Given the description of an element on the screen output the (x, y) to click on. 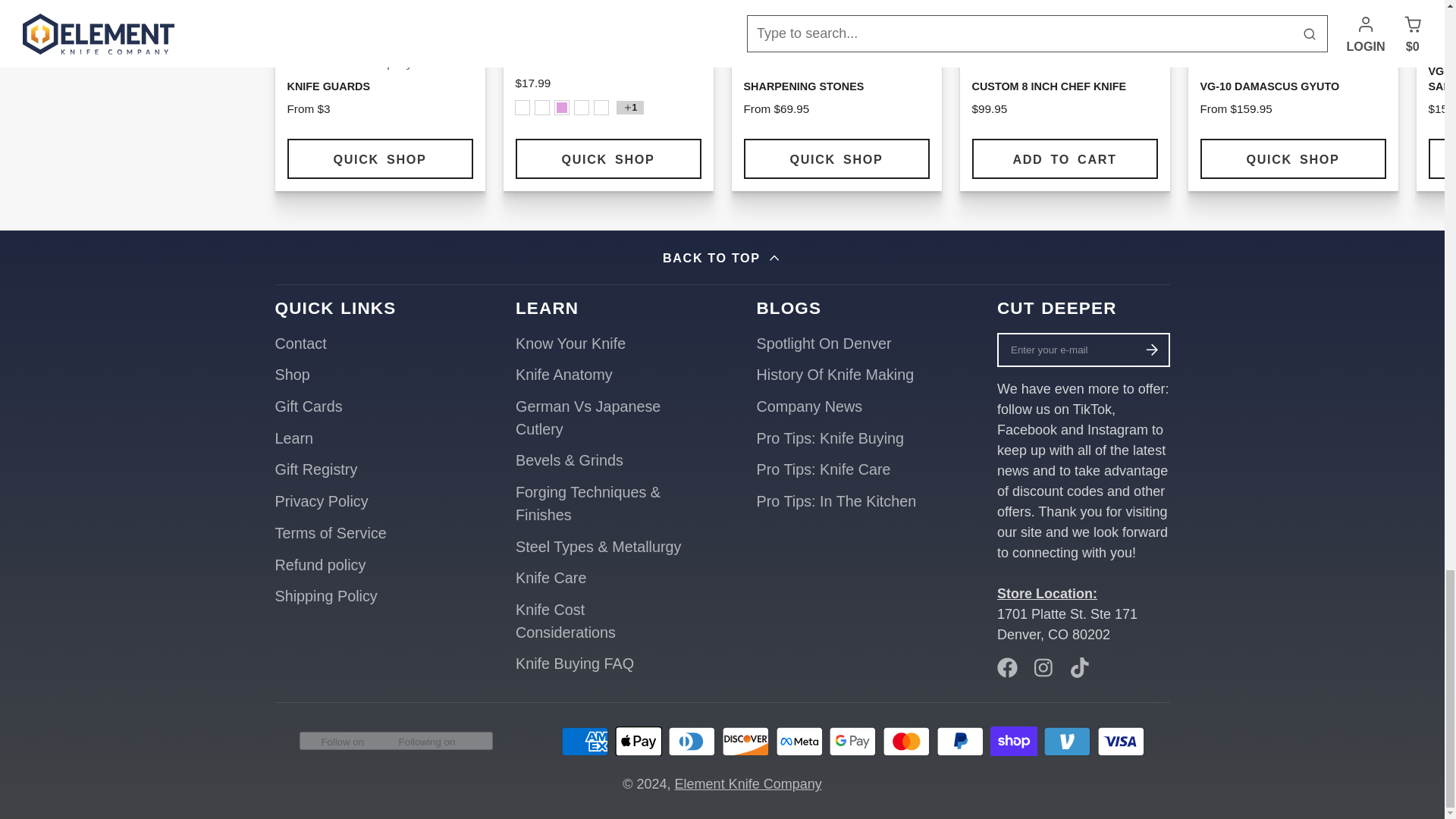
BACK TO TOP (722, 257)
